Given the description of an element on the screen output the (x, y) to click on. 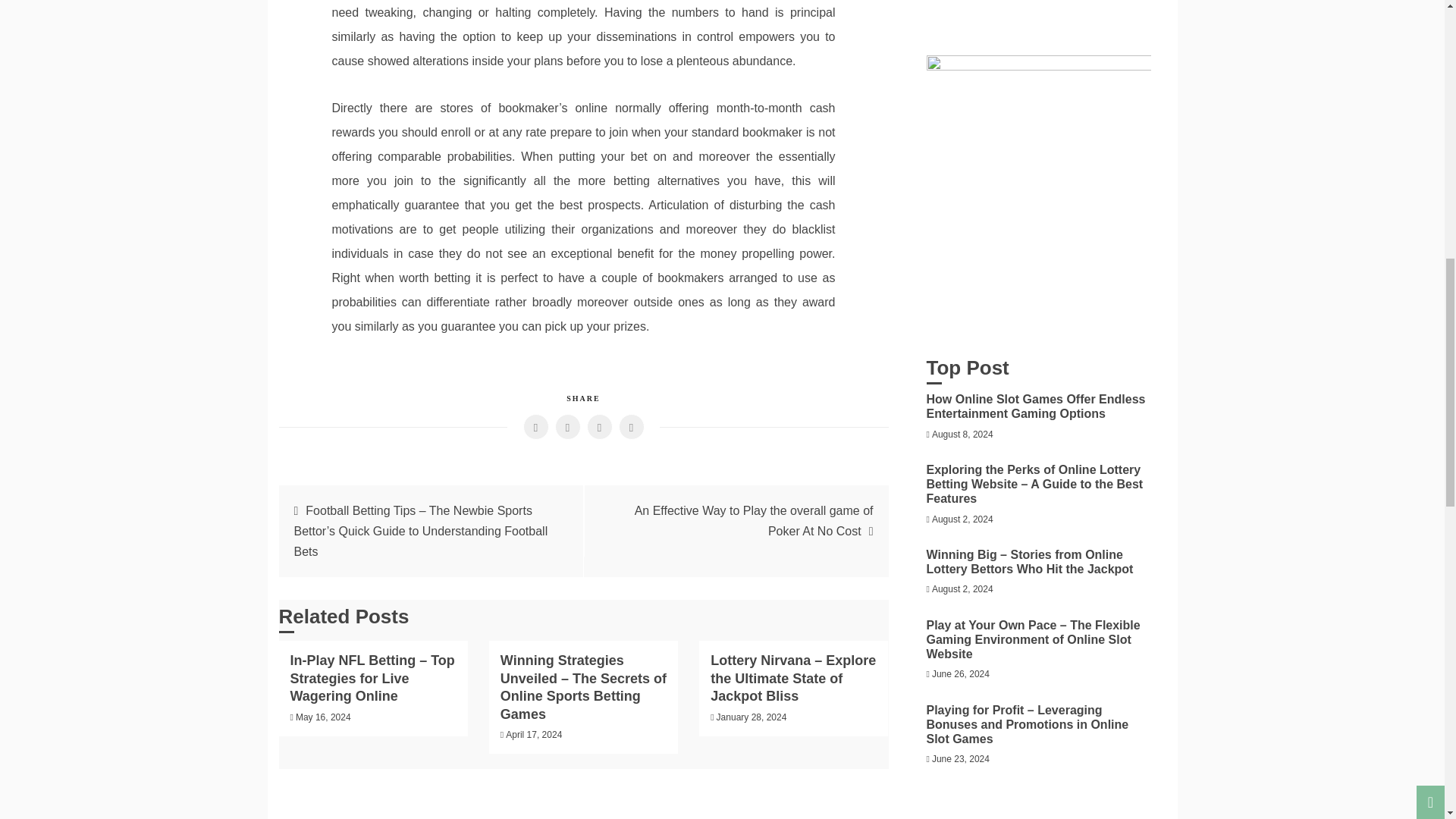
April 17, 2024 (533, 734)
August 8, 2024 (961, 434)
May 16, 2024 (322, 716)
January 28, 2024 (751, 716)
August 2, 2024 (961, 519)
